Given the description of an element on the screen output the (x, y) to click on. 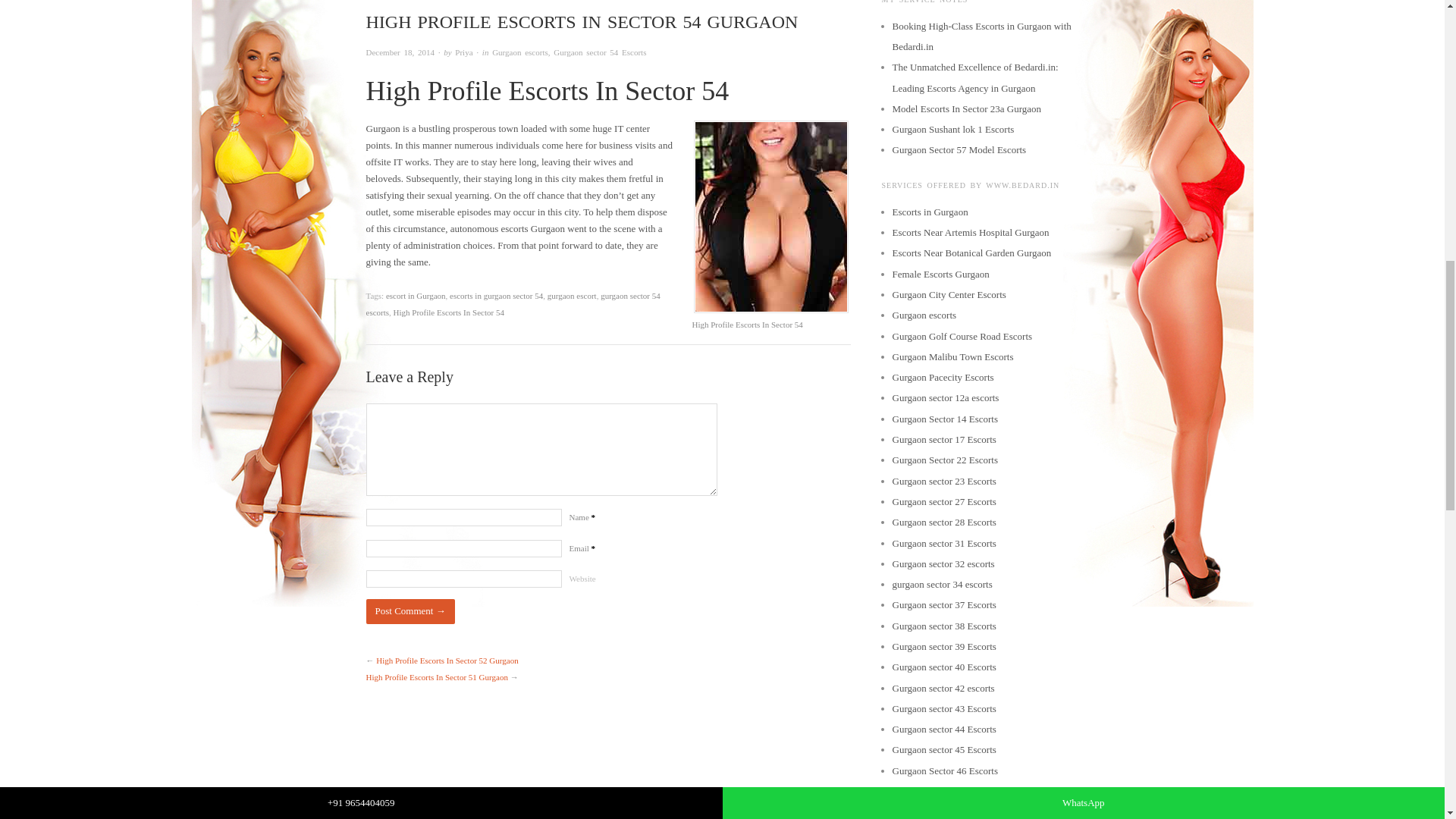
Priya (462, 51)
Female Escorts Gurgaon (939, 274)
High Profile Escorts In Sector 52 Gurgaon (446, 660)
Gurgaon Sector 57 Model Escorts (958, 149)
High Profile Escorts In Sector 51 Gurgaon (435, 676)
Gurgaon sector 17 Escorts (943, 439)
Booking High-Class Escorts in Gurgaon with Bedardi.in (980, 36)
Gurgaon City Center Escorts (948, 294)
High Profile Escorts In Sector 54 (448, 311)
Gurgaon escorts (520, 51)
Gurgaon Golf Course Road Escorts (961, 336)
Gurgaon escorts (923, 315)
Model Escorts In Sector 23a Gurgaon (966, 108)
gurgaon sector 54 escorts (512, 303)
Gurgaon sector 54 Escorts (599, 51)
